Given the description of an element on the screen output the (x, y) to click on. 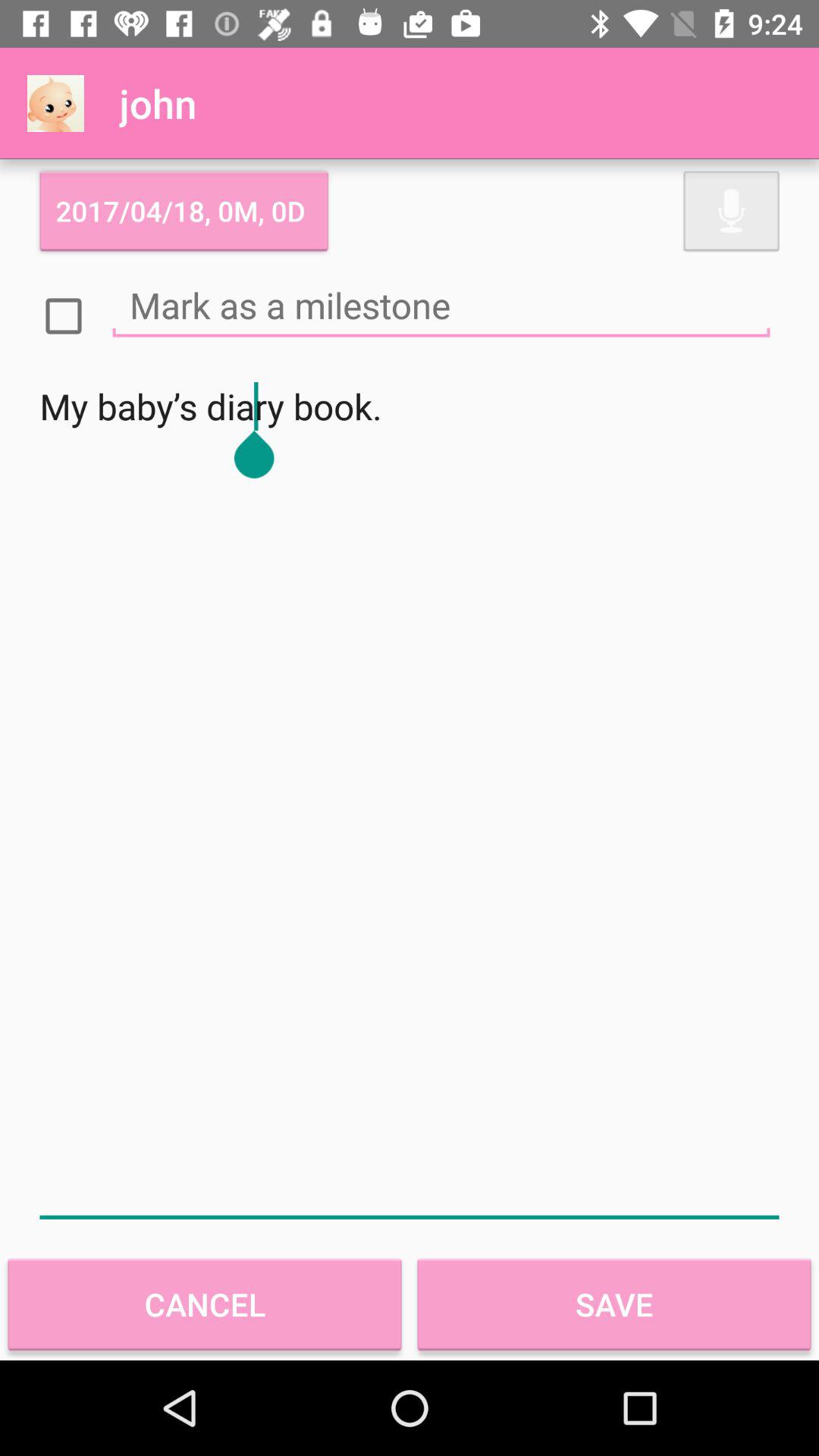
tap the item above 2017 04 18 (55, 103)
